Given the description of an element on the screen output the (x, y) to click on. 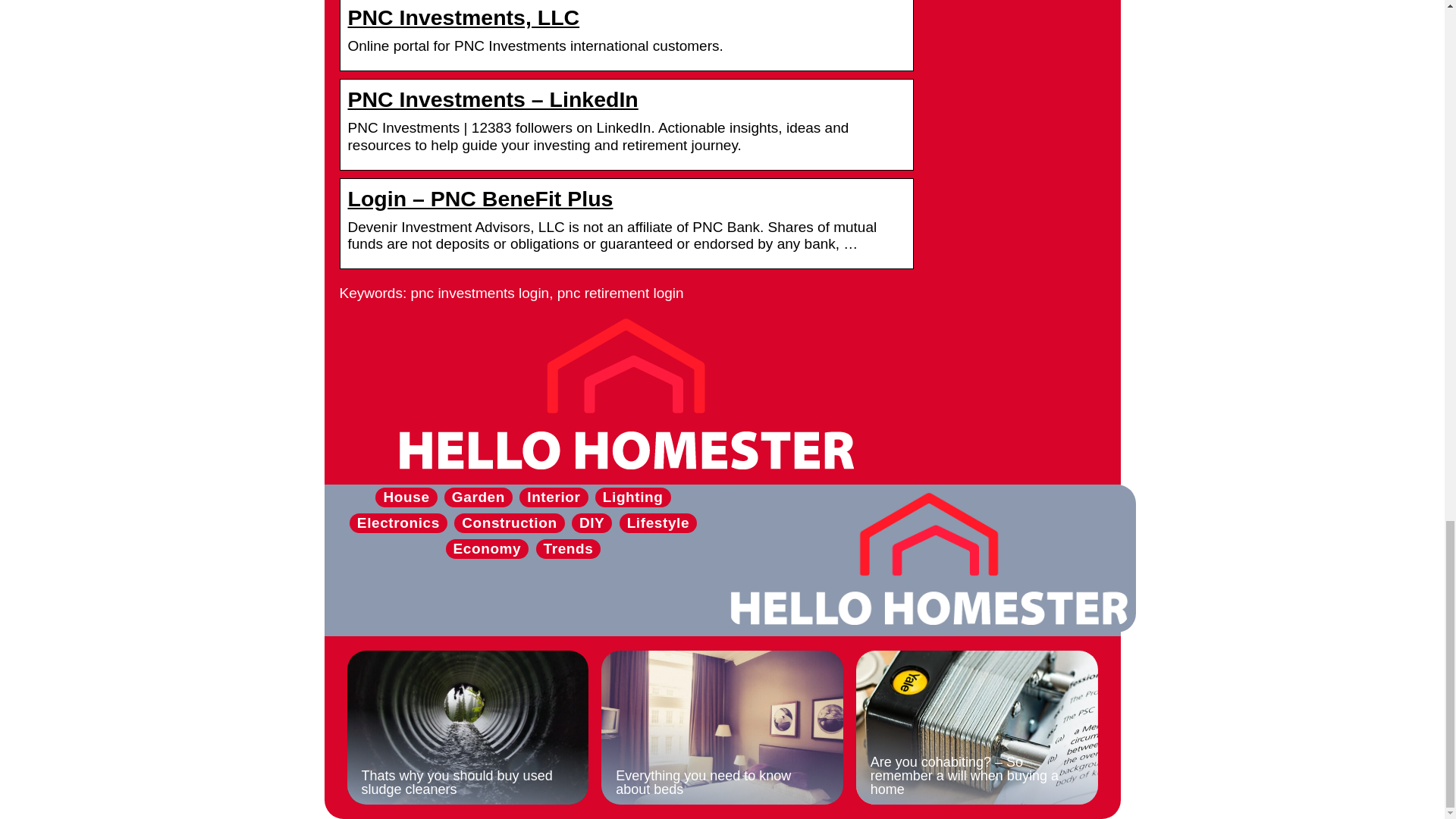
Construction (508, 522)
Lighting (632, 496)
Garden (478, 496)
Interior (553, 496)
House (405, 496)
Electronics (397, 522)
